Given the description of an element on the screen output the (x, y) to click on. 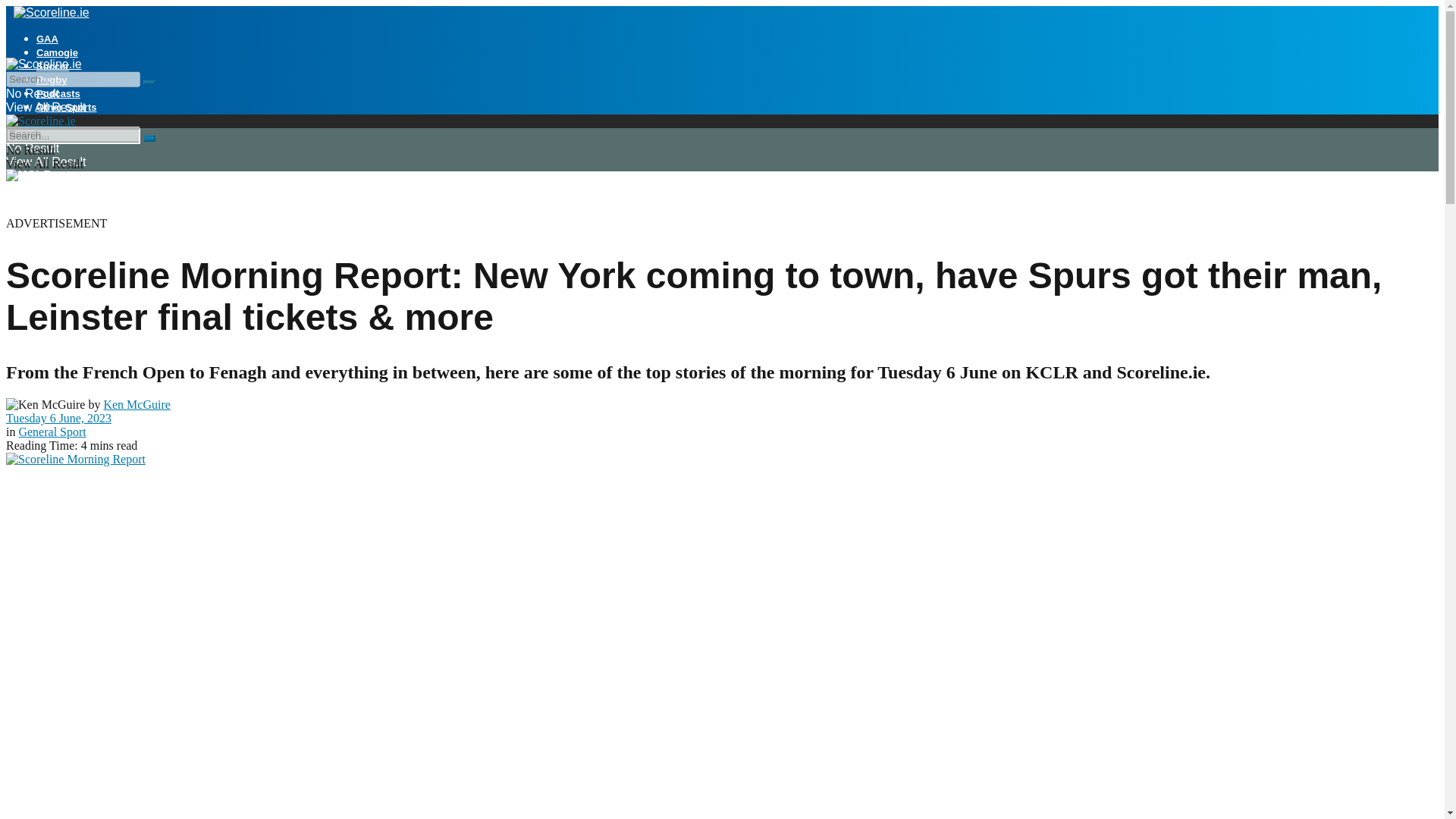
Camogie (57, 52)
GAA (47, 39)
Rugby (51, 79)
Soccer (52, 66)
General Sport (51, 431)
Tuesday 6 June, 2023 (58, 418)
Ken McGuire (136, 404)
Other Sports (66, 107)
Podcasts (58, 93)
